Given the description of an element on the screen output the (x, y) to click on. 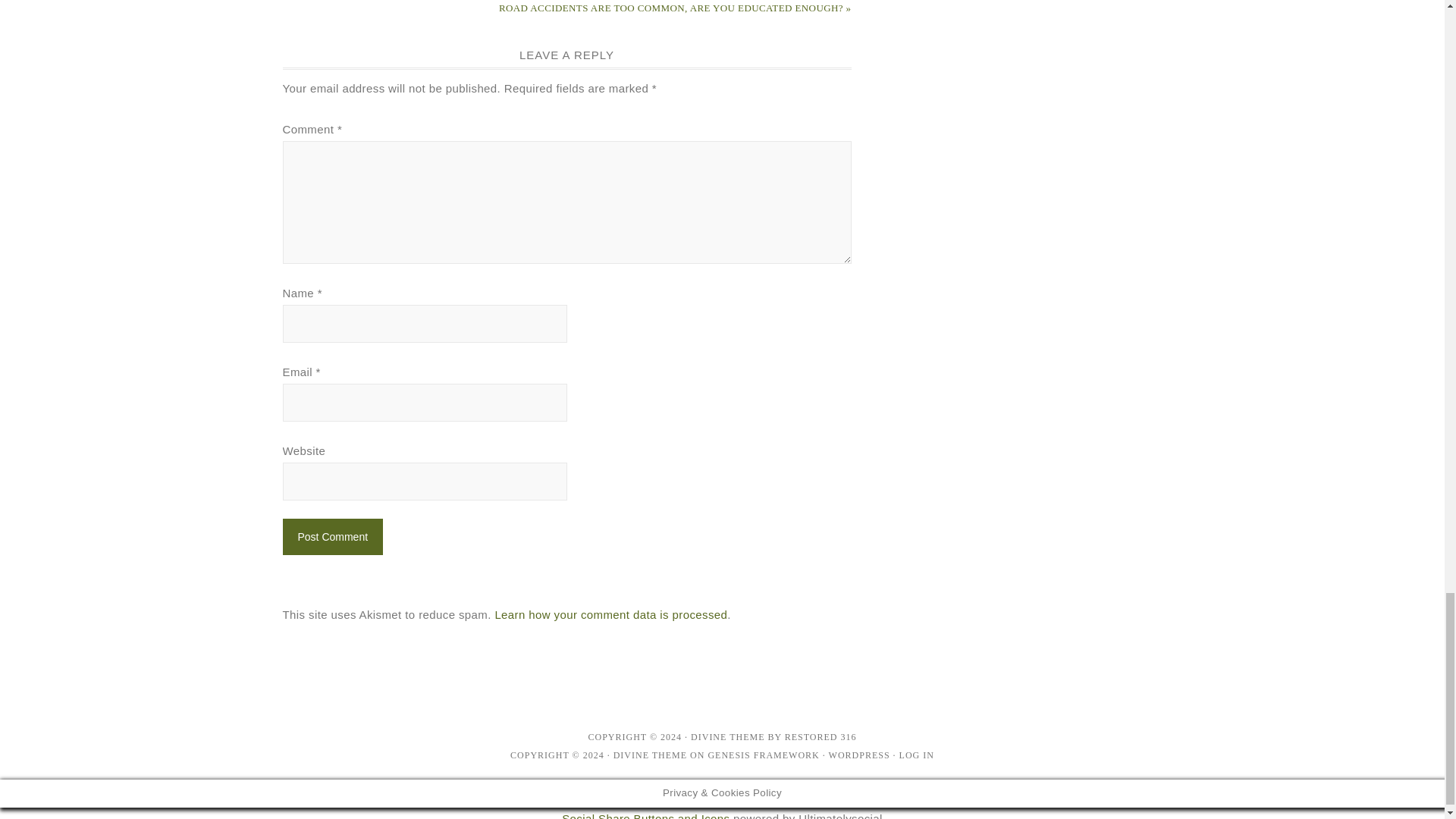
GENESIS FRAMEWORK (762, 755)
RESTORED 316 (820, 737)
Post Comment (332, 536)
DIVINE THEME (649, 755)
WORDPRESS (858, 755)
Learn how your comment data is processed (610, 614)
Post Comment (332, 536)
DIVINE THEME (727, 737)
LOG IN (916, 755)
